Given the description of an element on the screen output the (x, y) to click on. 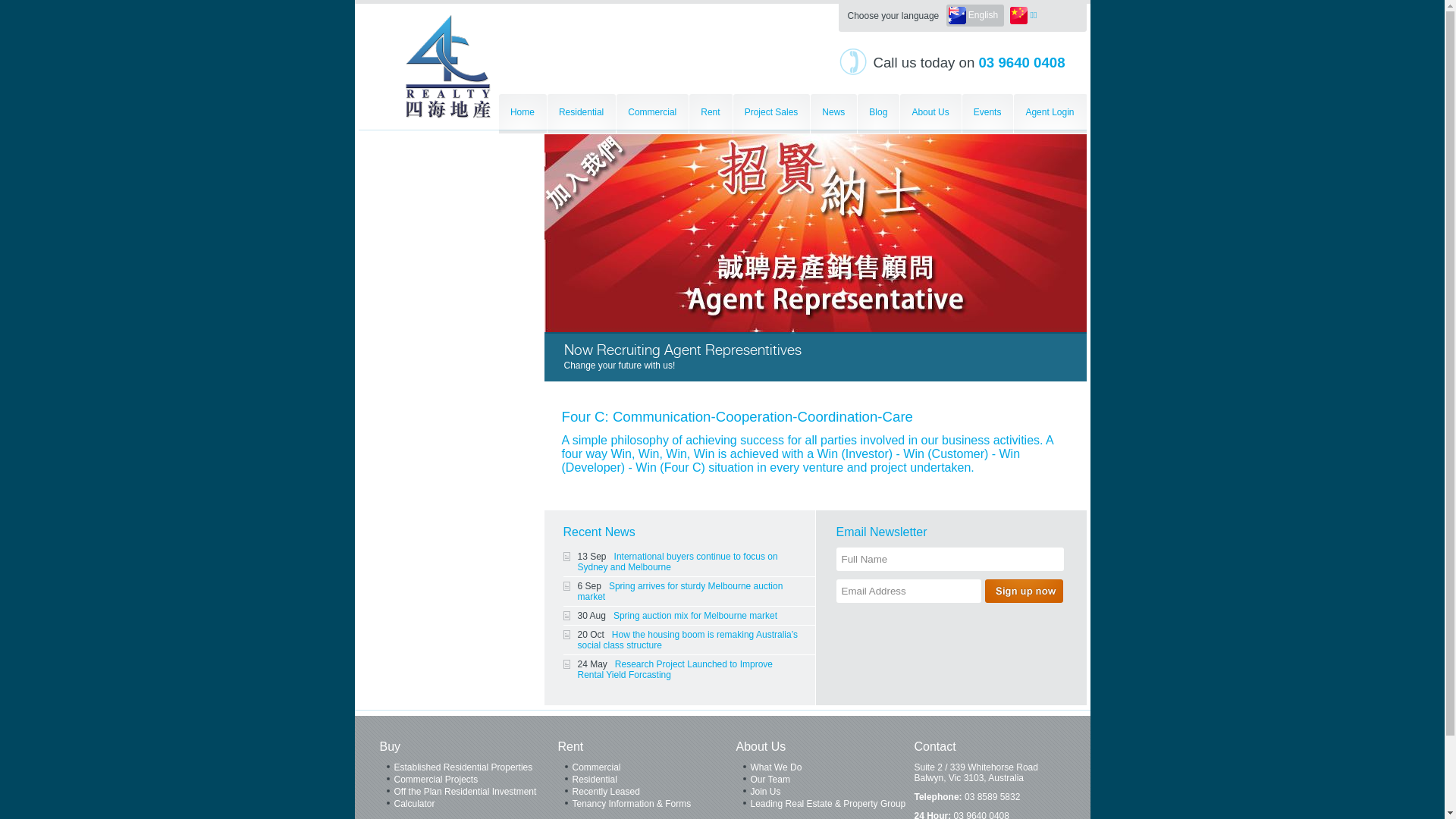
Spring auction mix for Melbourne market Element type: text (695, 615)
Commercial Projects Element type: text (468, 780)
Our Team Element type: text (824, 780)
 English Element type: text (975, 15)
Tenancy Information & Forms Element type: text (647, 804)
Commercial Element type: text (652, 113)
Research Project Launched to Improve Rental Yield Forcasting Element type: text (674, 669)
Project Sales Element type: text (771, 113)
Off the Plan Residential Investment Element type: text (468, 792)
Established Residential Properties Element type: text (468, 768)
Blog Element type: text (878, 113)
About Us Element type: text (760, 746)
Join Us Element type: text (824, 792)
Residential Element type: text (581, 113)
Recently Leased Element type: text (647, 792)
What We Do Element type: text (824, 768)
Rent Element type: text (710, 113)
Residential Element type: text (647, 780)
Commercial Element type: text (647, 768)
About Us Element type: text (930, 113)
Leading Real Estate & Property Group Element type: text (824, 804)
News Element type: text (833, 113)
Home Element type: text (522, 113)
Agent Login Element type: text (1049, 113)
Spring arrives for sturdy Melbourne auction market Element type: text (680, 591)
Events Element type: text (987, 113)
Rent Element type: text (570, 746)
Calculator Element type: text (468, 804)
